Given the description of an element on the screen output the (x, y) to click on. 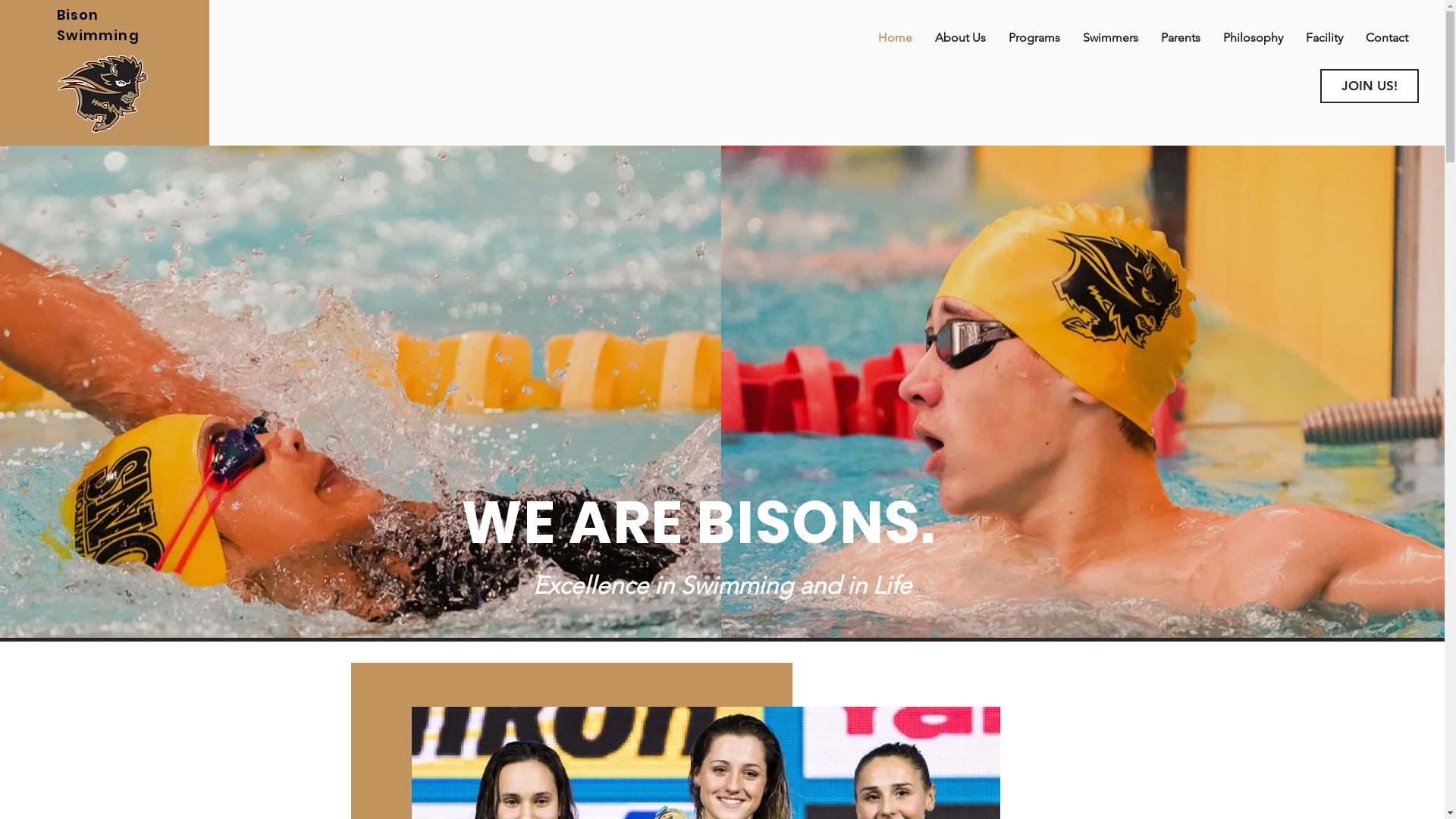
Bison Swimming Element type: text (97, 24)
Home Element type: text (894, 37)
JOIN US! Element type: text (1369, 86)
About Us Element type: text (960, 37)
Facility Element type: text (1324, 37)
Contact Element type: text (1386, 37)
Philosophy Element type: text (1252, 37)
